Given the description of an element on the screen output the (x, y) to click on. 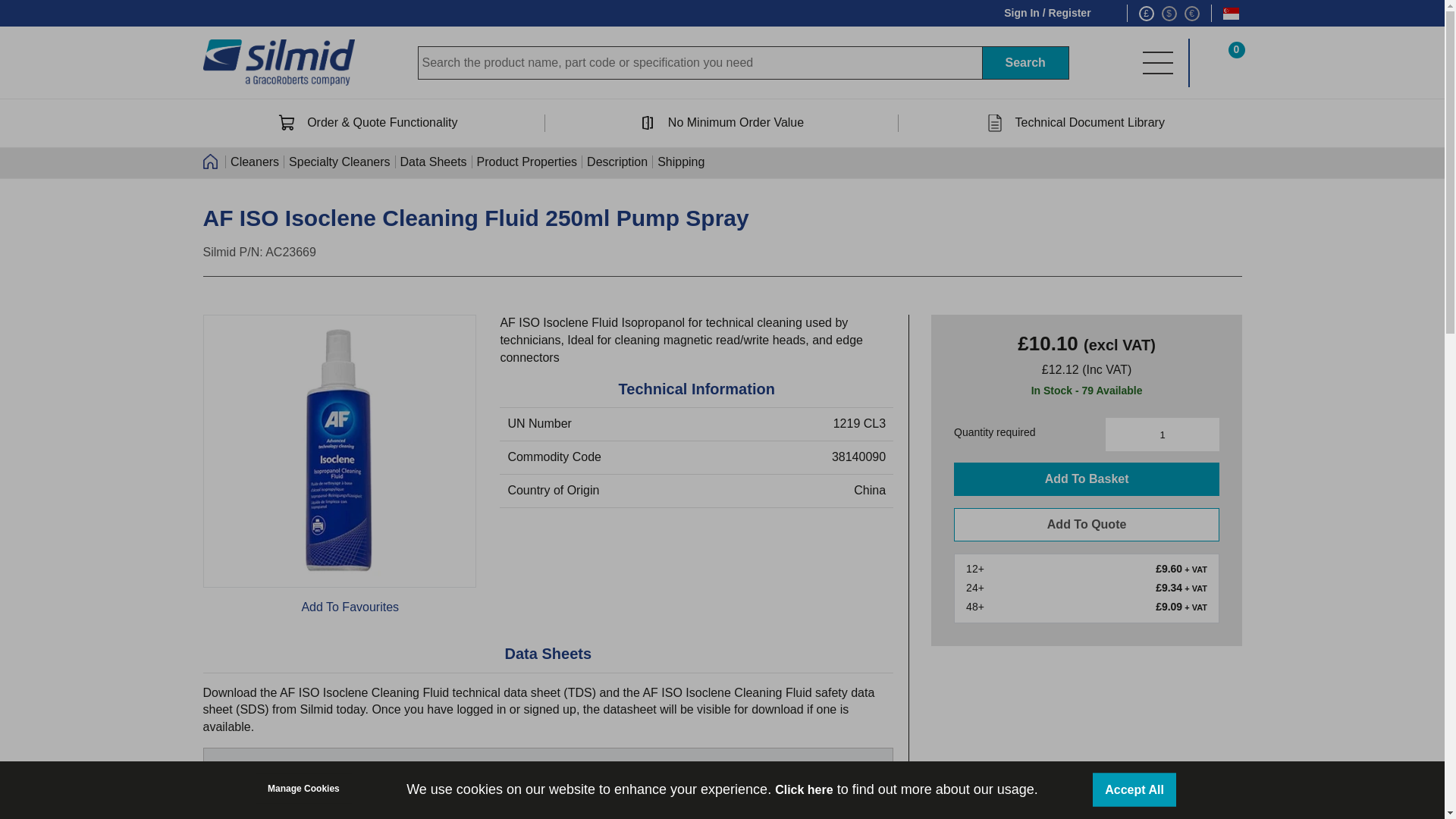
Click here (803, 789)
Accept All (1134, 789)
Manage Cookies (304, 788)
Add To Quote (1086, 524)
1 (1162, 434)
